Given the description of an element on the screen output the (x, y) to click on. 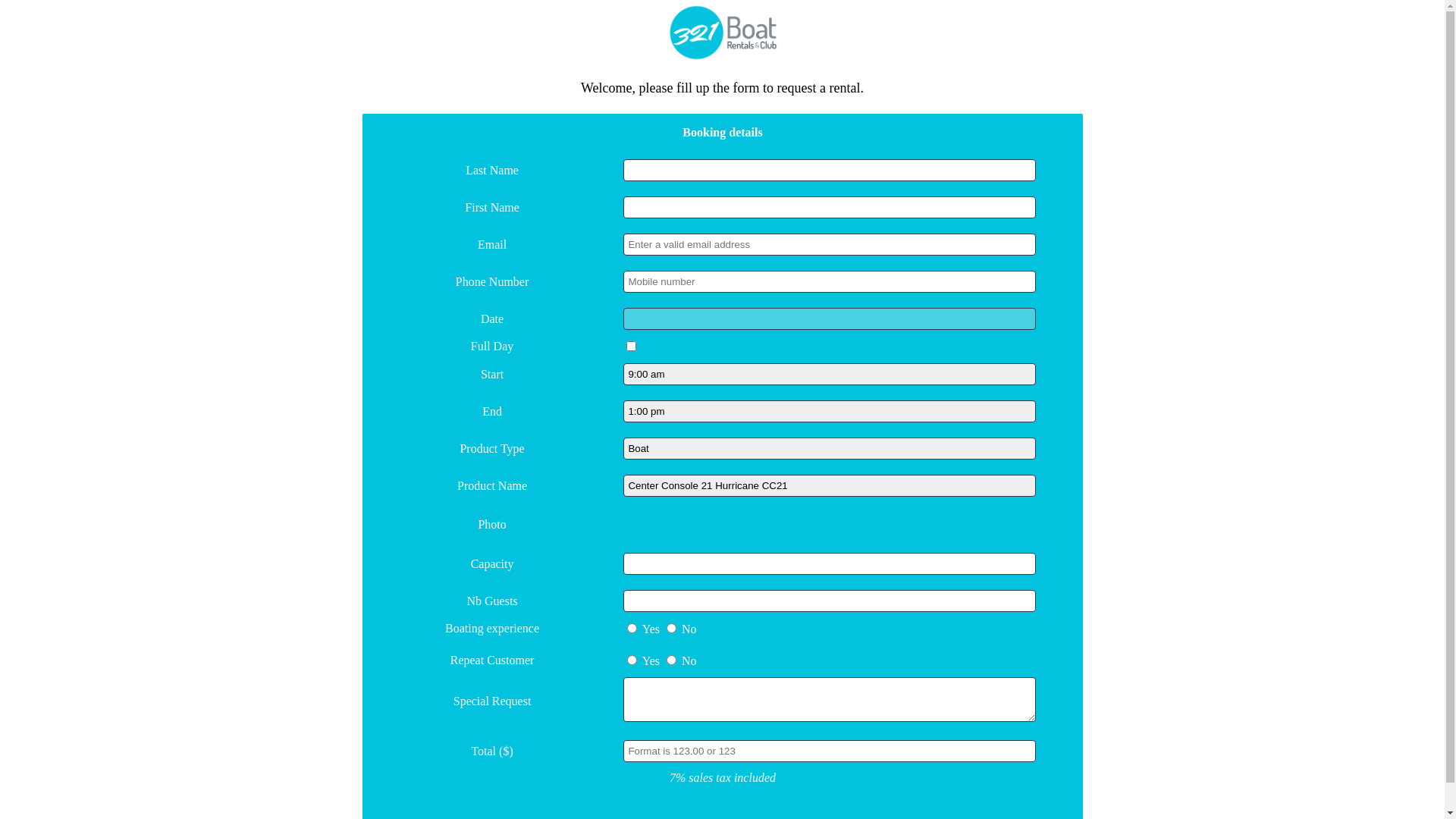
Enter a valid email address Element type: hover (829, 244)
no Element type: text (671, 628)
yes Element type: text (632, 628)
on Element type: text (631, 346)
